Given the description of an element on the screen output the (x, y) to click on. 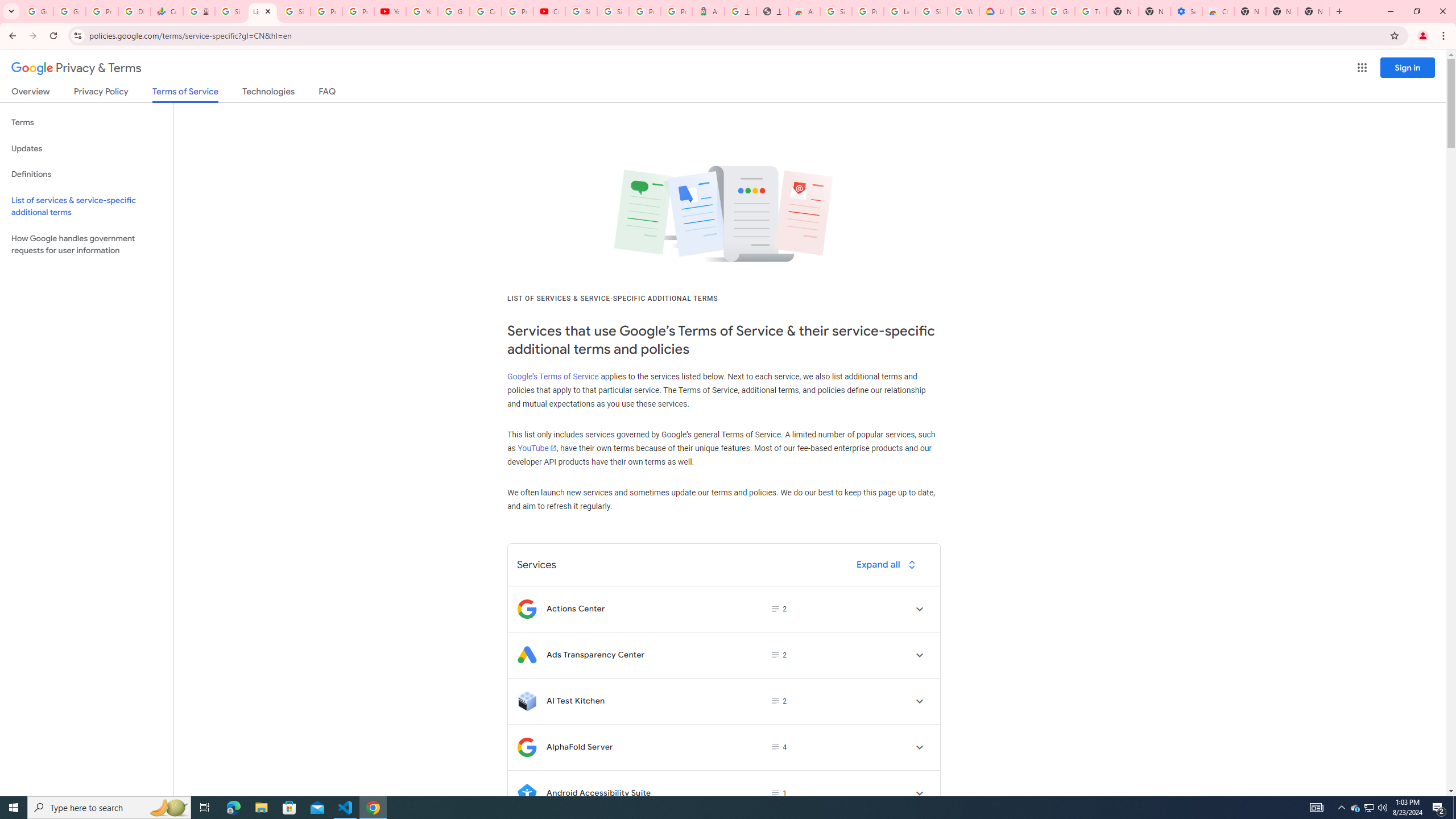
YouTube (536, 447)
Content Creator Programs & Opportunities - YouTube Creators (549, 11)
Logo for Android Accessibility Suite (526, 792)
Who are Google's partners? - Privacy and conditions - Google (963, 11)
